Given the description of an element on the screen output the (x, y) to click on. 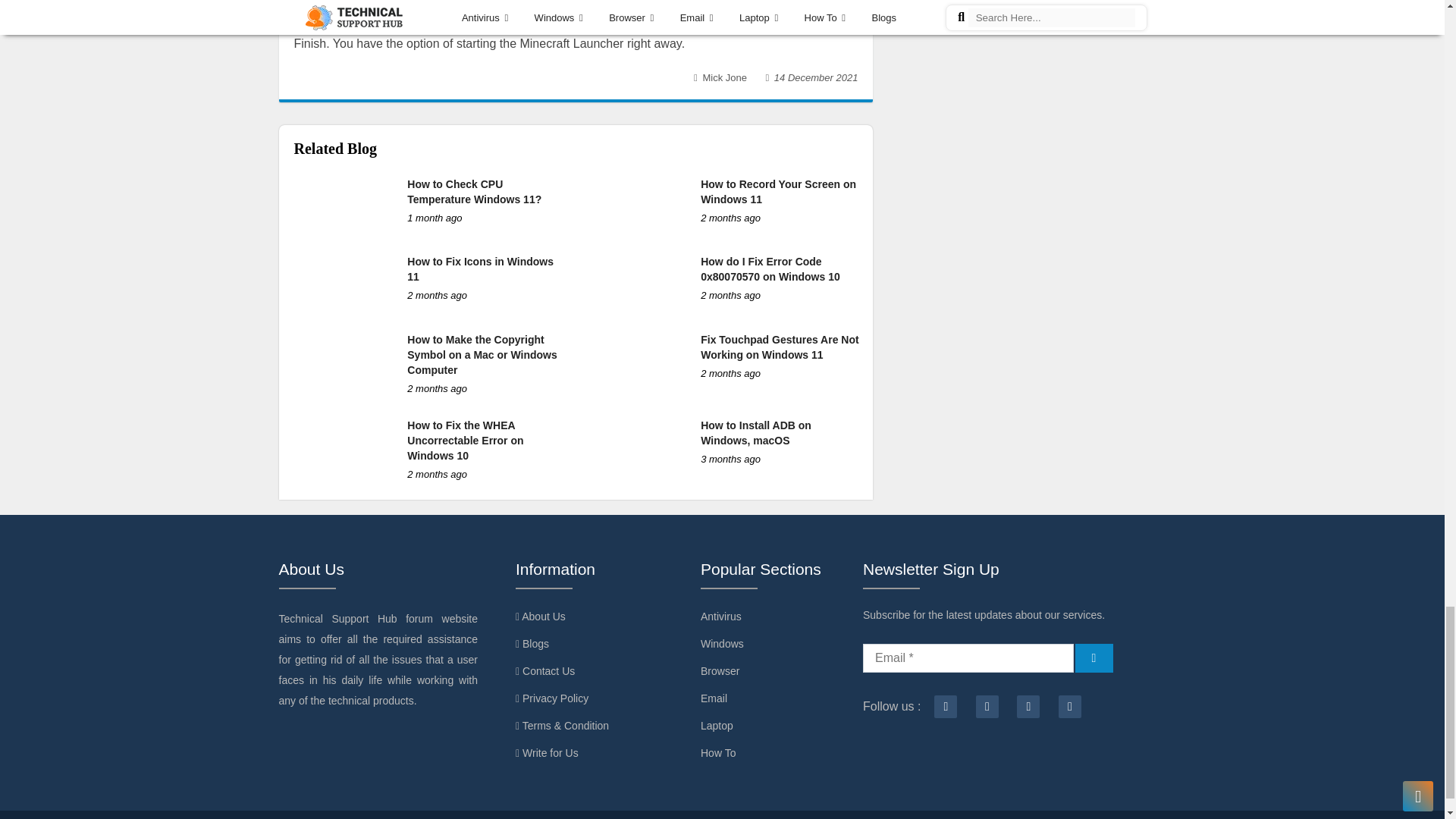
How to Install ADB on Windows, macOS (755, 432)
How do I Fix Error Code 0x80070570 on Windows 10 (770, 268)
How to Check CPU Temperature Windows 11? (474, 191)
How to Record Your Screen on Windows 11 (778, 191)
How to Fix the WHEA Uncorrectable Error on Windows 10 (464, 440)
How to Fix Icons in Windows 11 (480, 268)
Fix Touchpad Gestures Are Not Working on Windows 11 (779, 347)
